Given the description of an element on the screen output the (x, y) to click on. 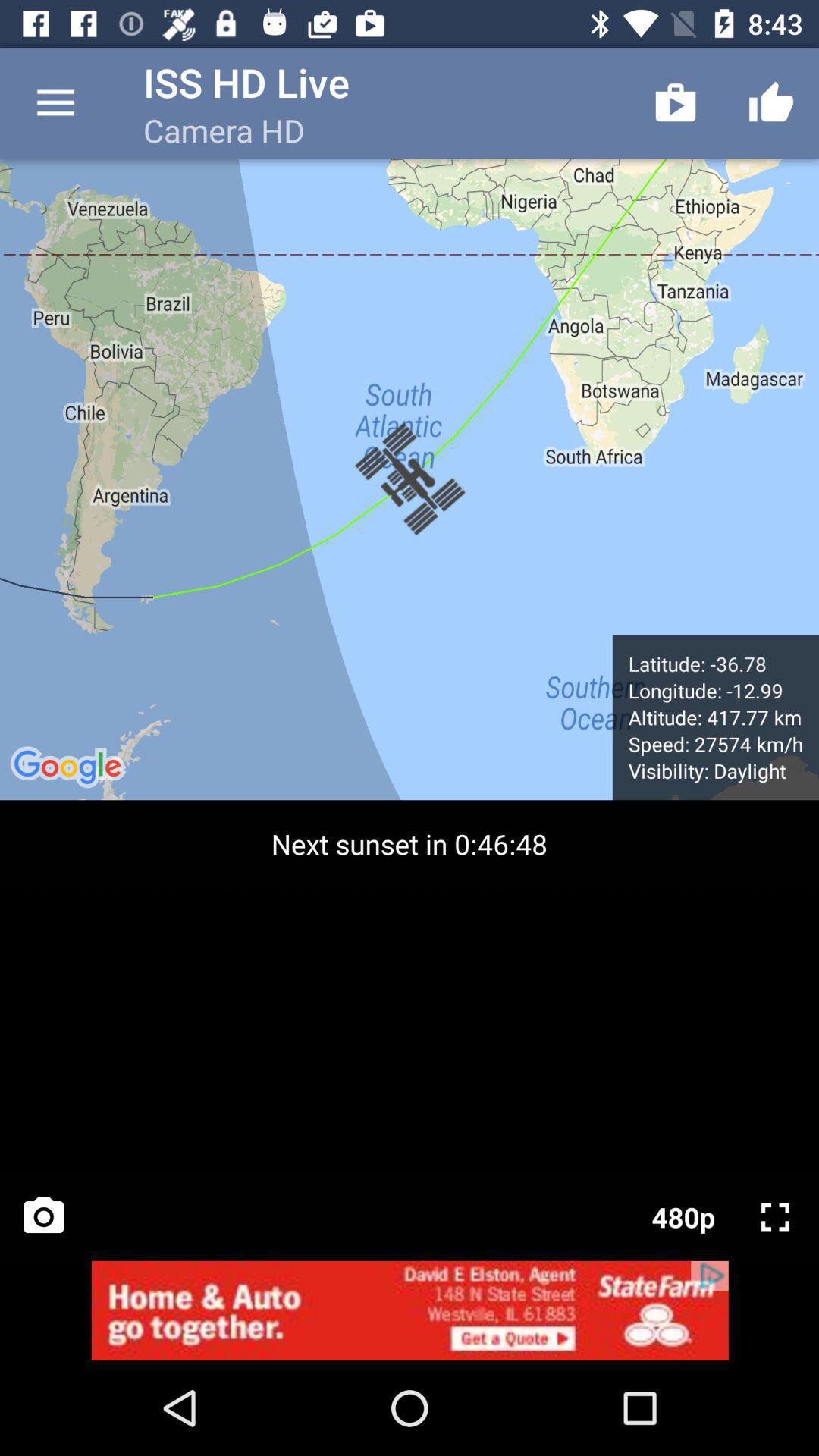
camera button (43, 1216)
